Given the description of an element on the screen output the (x, y) to click on. 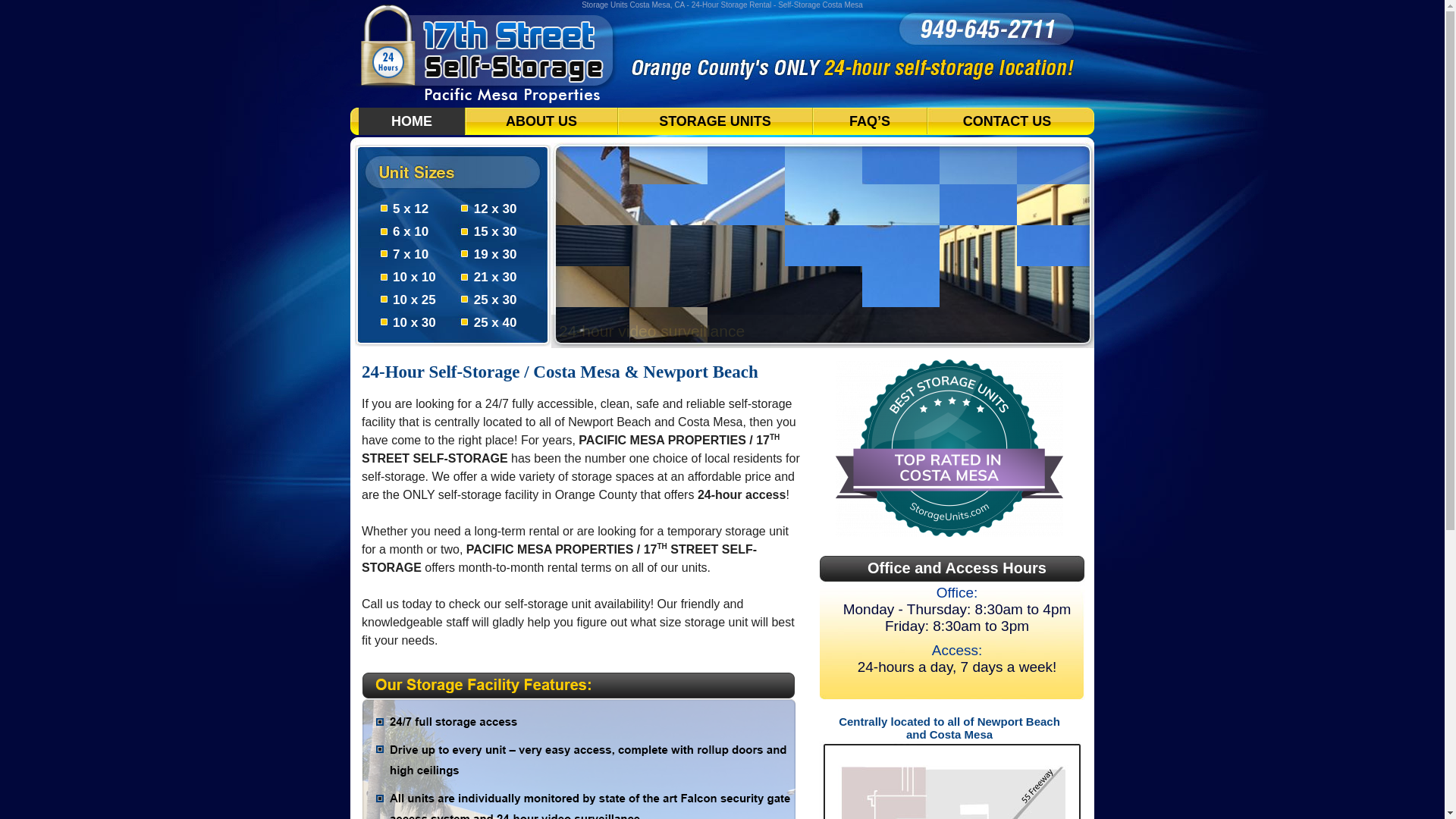
CONTACT US Element type: text (1006, 120)
HOME Element type: text (411, 120)
ABOUT US Element type: text (541, 120)
STORAGE UNITS Element type: text (715, 120)
